Given the description of an element on the screen output the (x, y) to click on. 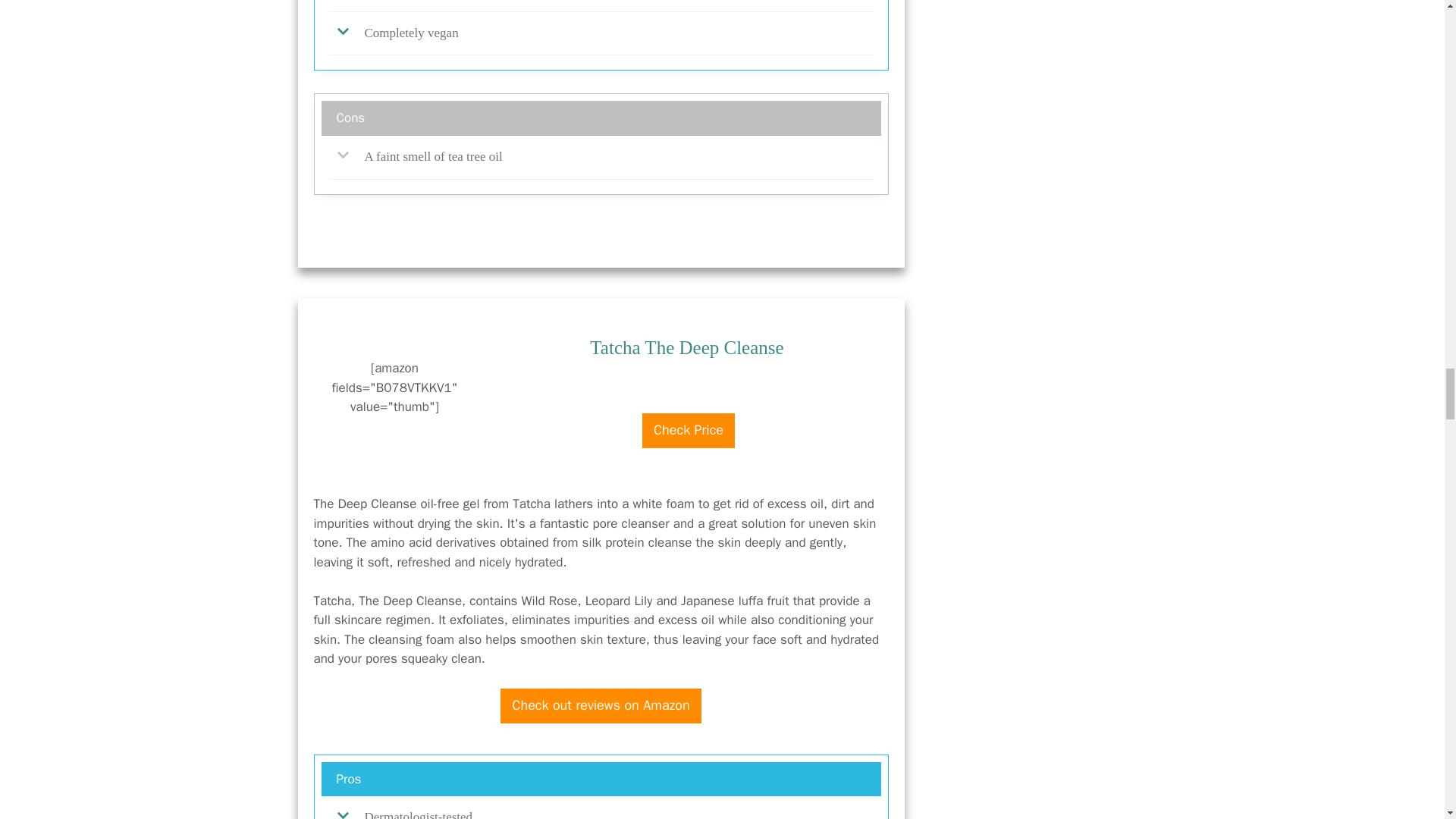
amazon (688, 405)
